Given the description of an element on the screen output the (x, y) to click on. 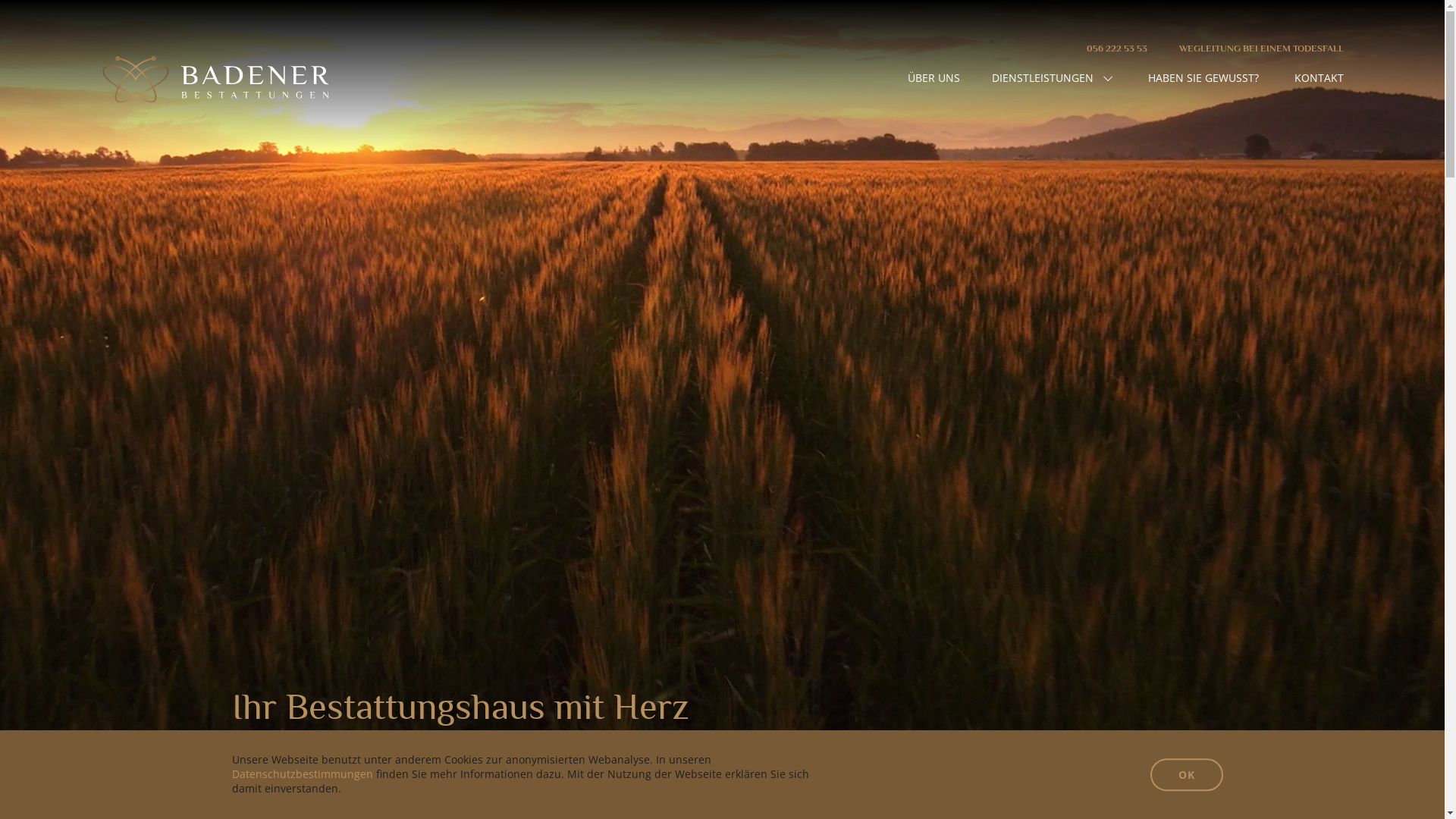
Home - Badener Bestattungen Element type: hover (213, 79)
WEGLEITUNG BEI EINEM TODESFALL Element type: text (1261, 48)
DIENSTLEISTUNGEN Element type: text (1052, 78)
056 222 53 53 Element type: text (1116, 48)
Datenschutzbestimmungen Element type: text (302, 774)
HABEN SIE GEWUSST? Element type: text (1203, 77)
KONTAKT Element type: text (1318, 77)
MEHR ERFAHREN Element type: text (275, 757)
OK Element type: text (1186, 774)
